Given the description of an element on the screen output the (x, y) to click on. 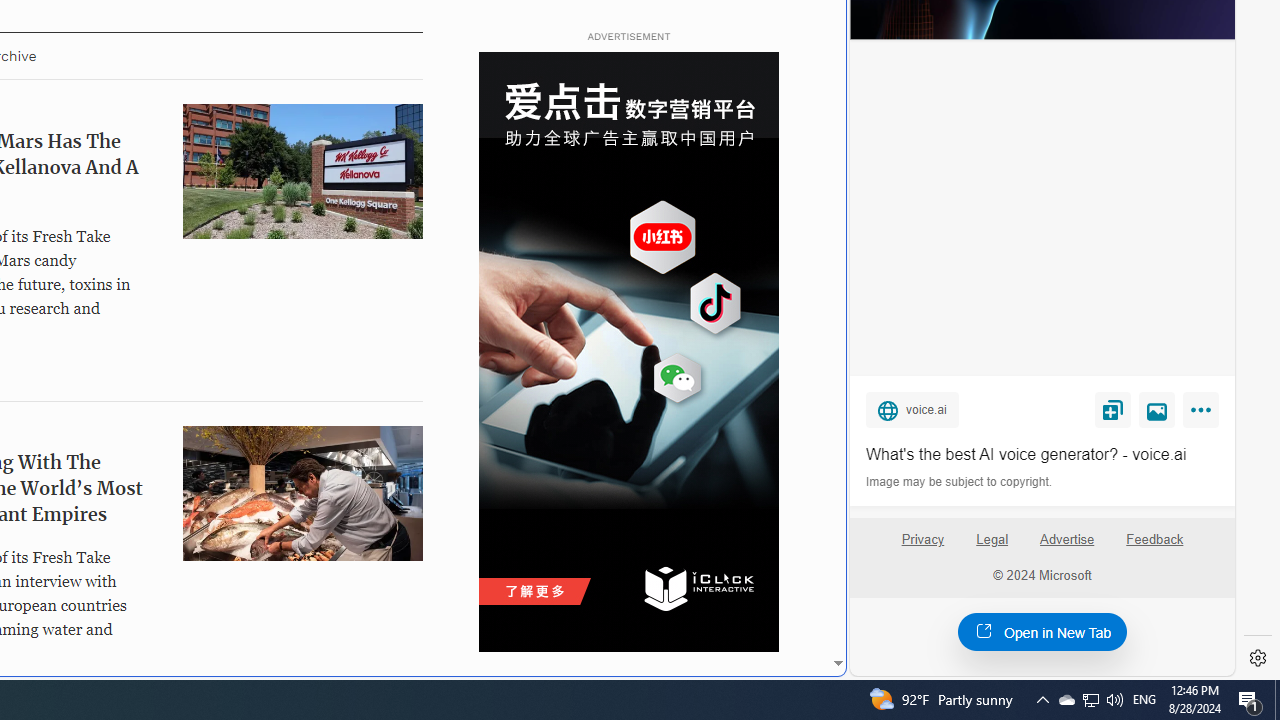
More (1204, 413)
Settings (1258, 658)
Save (1112, 409)
Legal (992, 547)
